Given the description of an element on the screen output the (x, y) to click on. 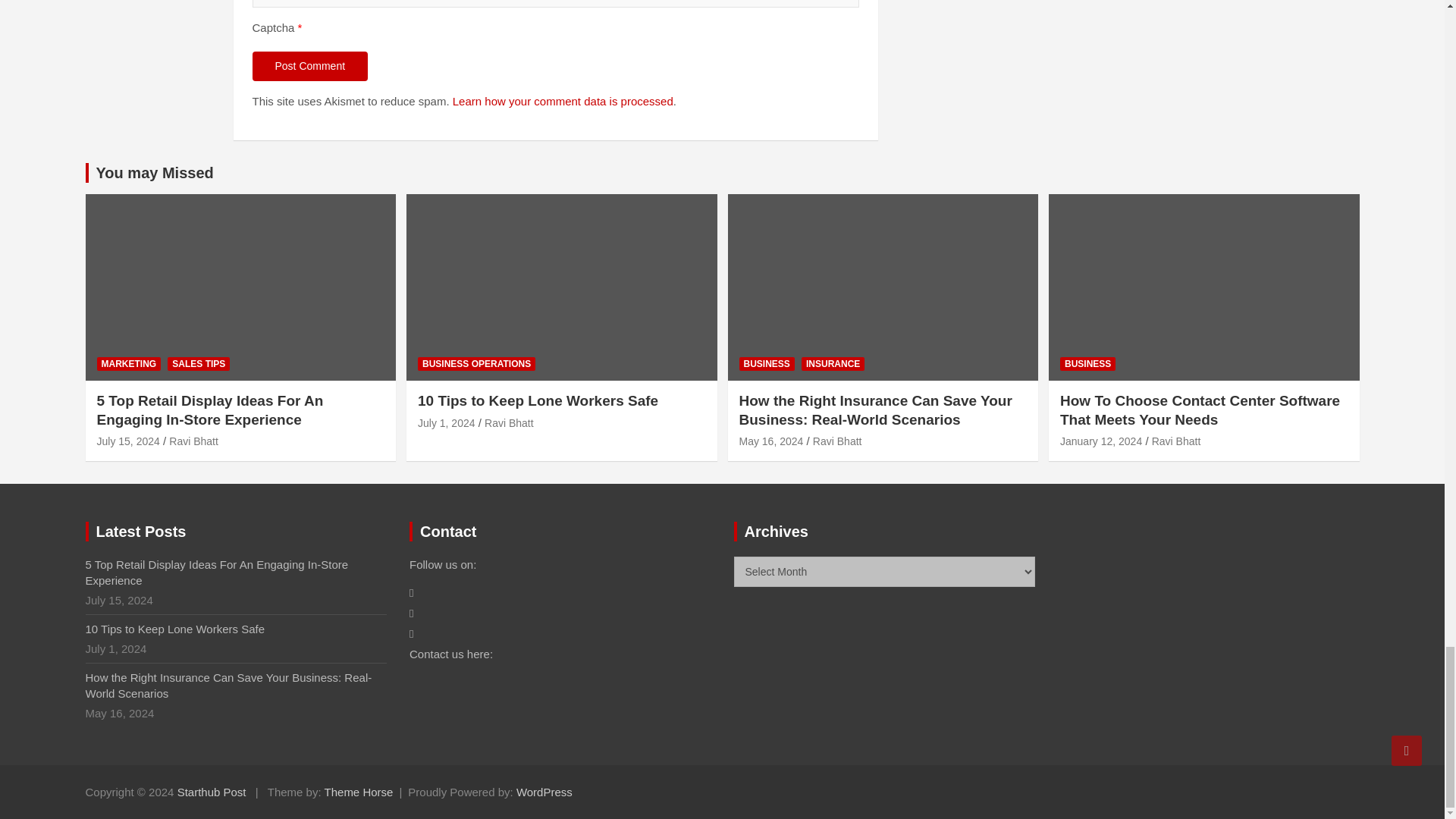
Starthub Post (211, 791)
WordPress (544, 791)
10 Tips to Keep Lone Workers Safe (446, 422)
How To Choose Contact Center Software That Meets Your Needs (1100, 440)
Theme Horse (358, 791)
Post Comment (309, 66)
